Given the description of an element on the screen output the (x, y) to click on. 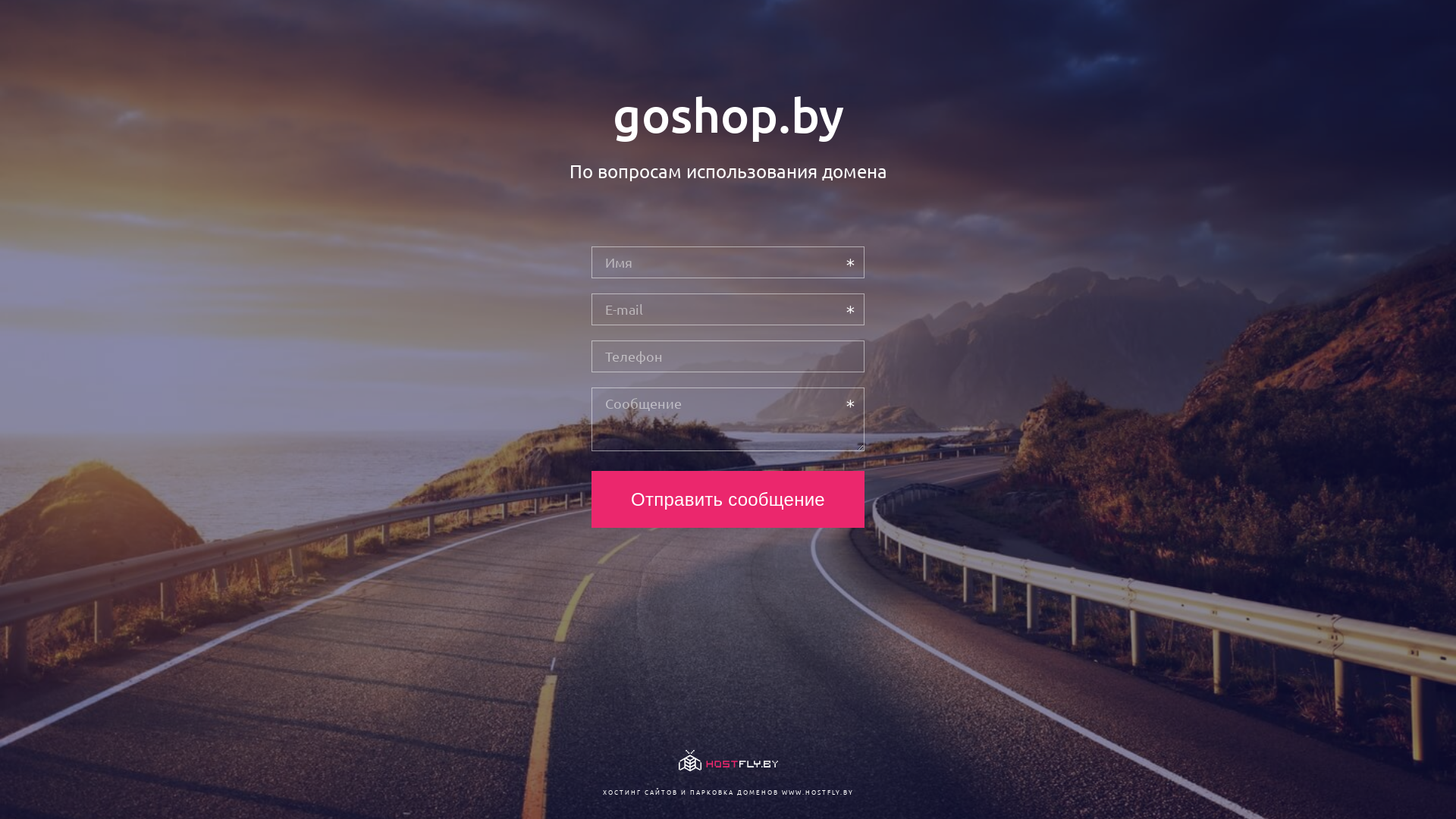
WWW.HOSTFLY.BY Element type: text (817, 791)
